Given the description of an element on the screen output the (x, y) to click on. 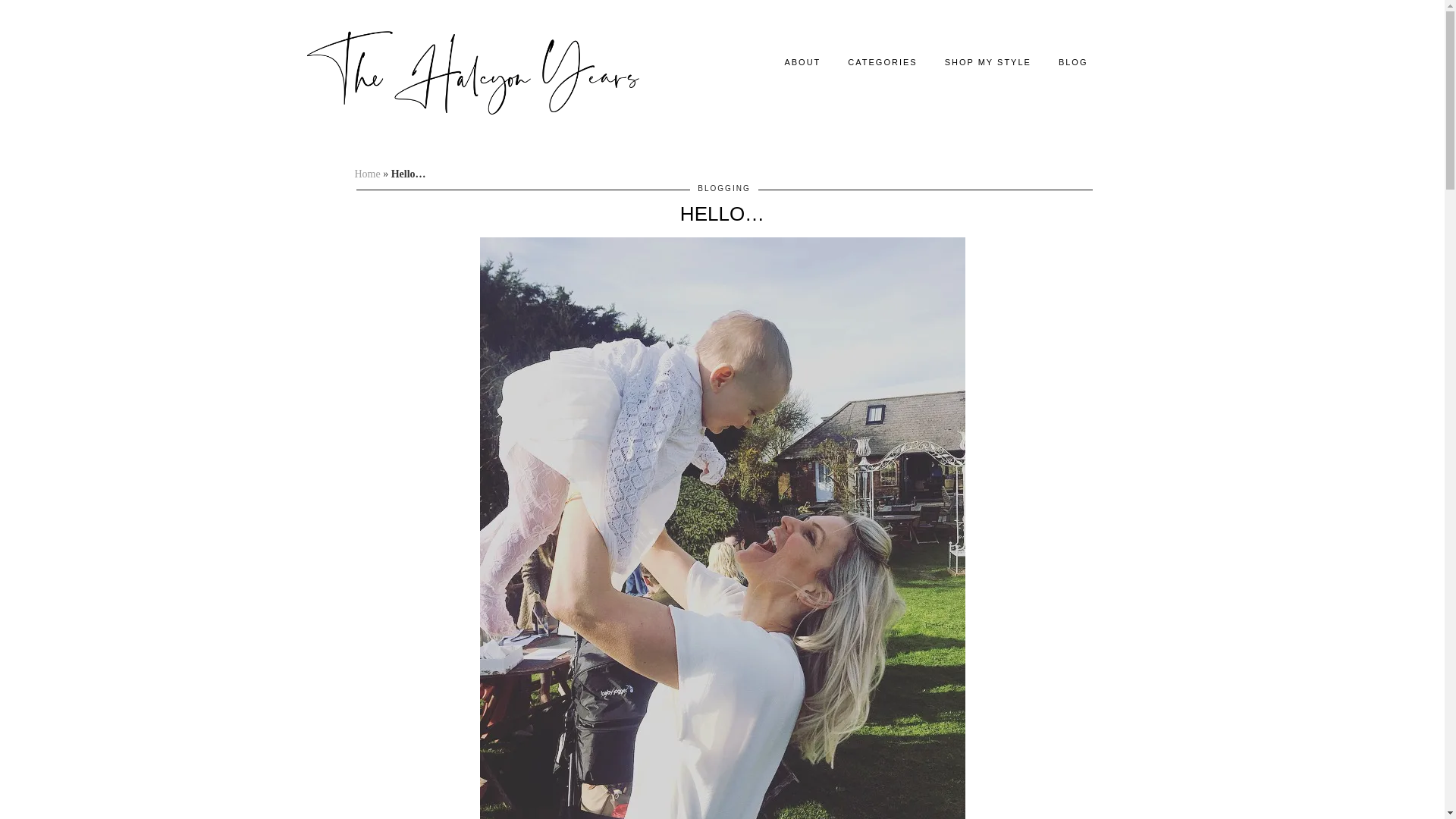
The Halcyon Years (472, 71)
